Given the description of an element on the screen output the (x, y) to click on. 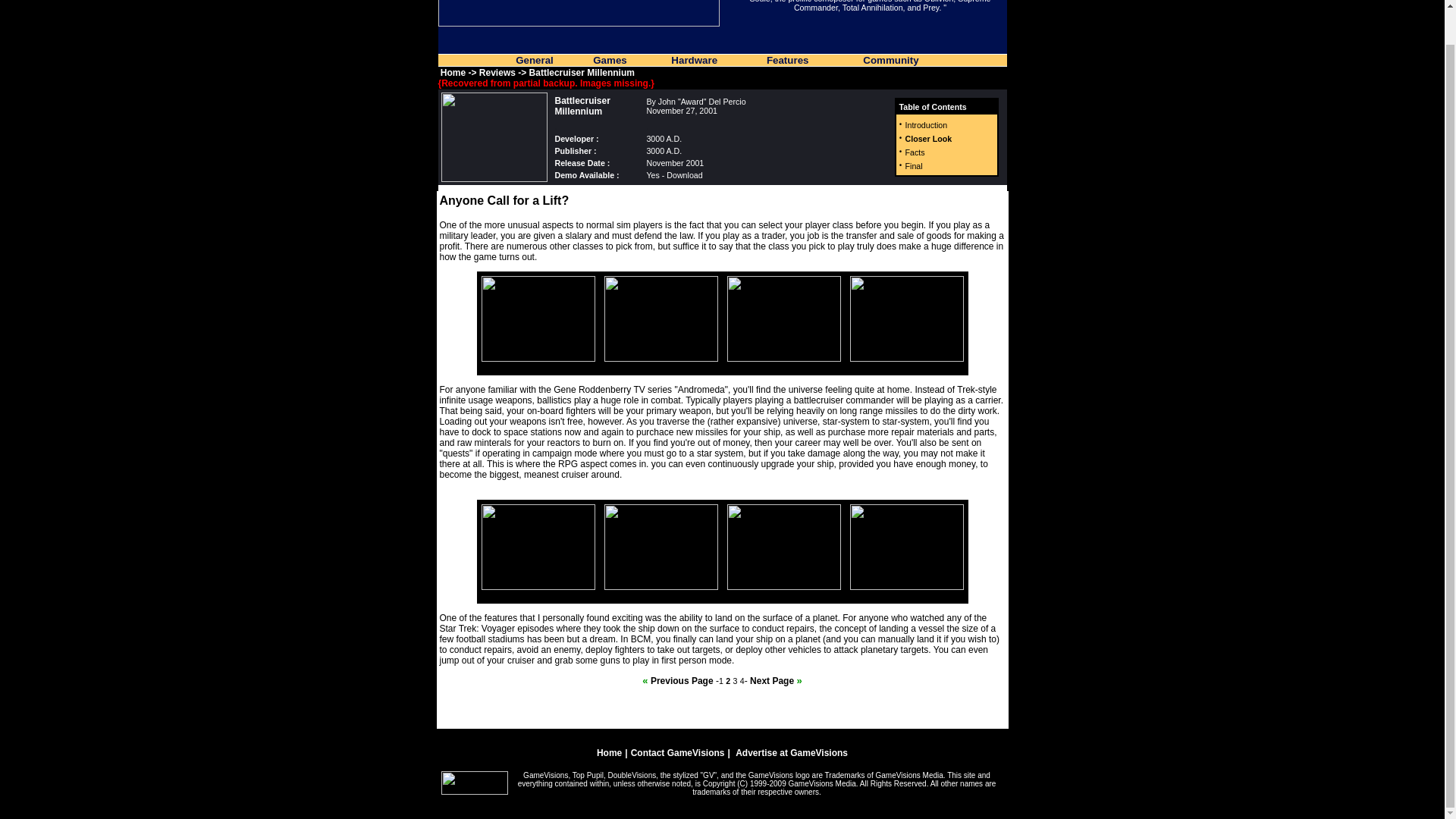
Features (788, 60)
Community (890, 60)
Hardware (694, 60)
General (534, 60)
Games (609, 60)
